Given the description of an element on the screen output the (x, y) to click on. 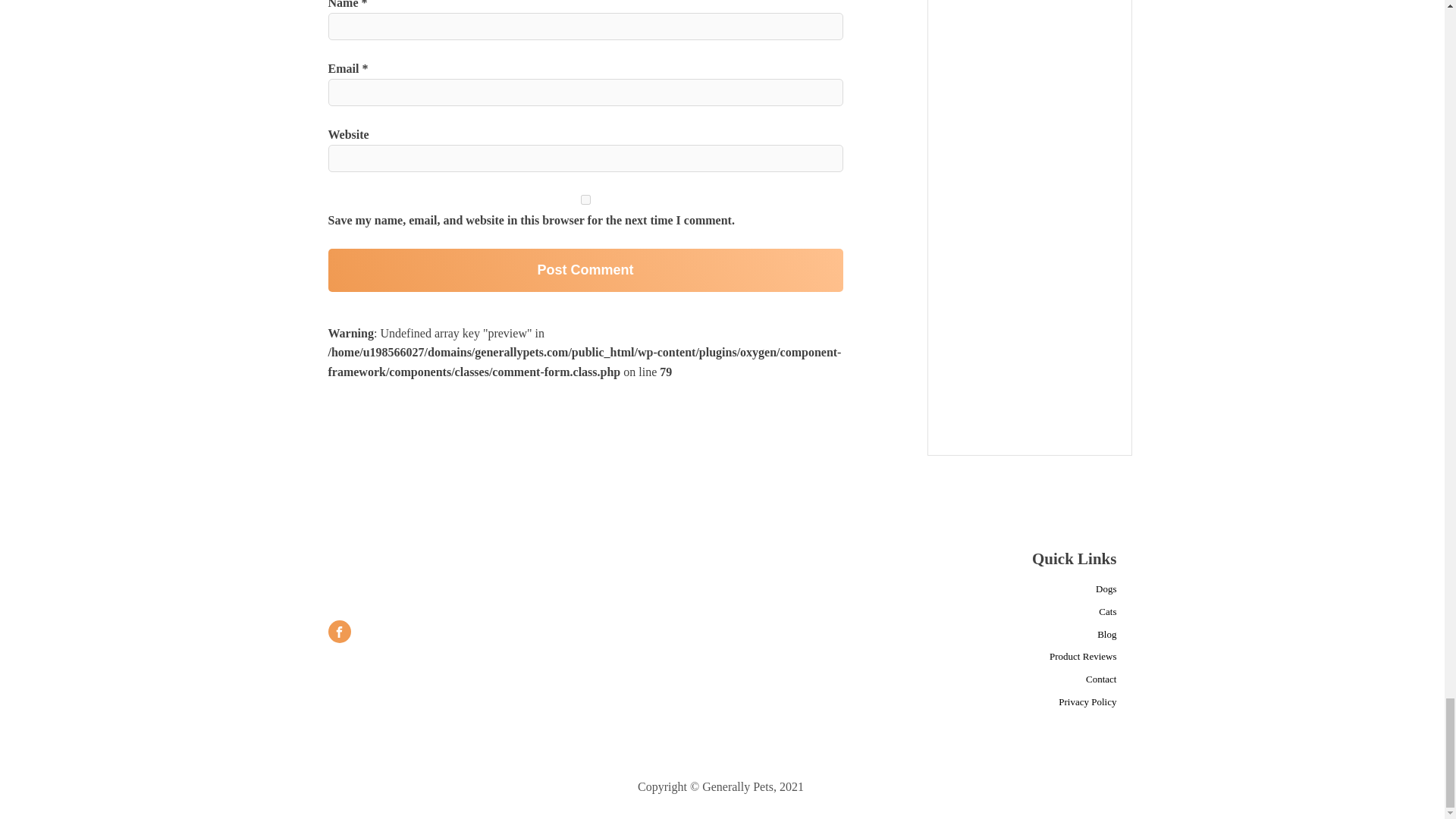
Contact (1101, 679)
Post Comment (585, 269)
yes (585, 199)
Blog (1106, 634)
Cats (1107, 611)
Product Reviews (1082, 657)
Dogs (1106, 589)
Privacy Policy (1087, 702)
Post Comment (585, 269)
